Given the description of an element on the screen output the (x, y) to click on. 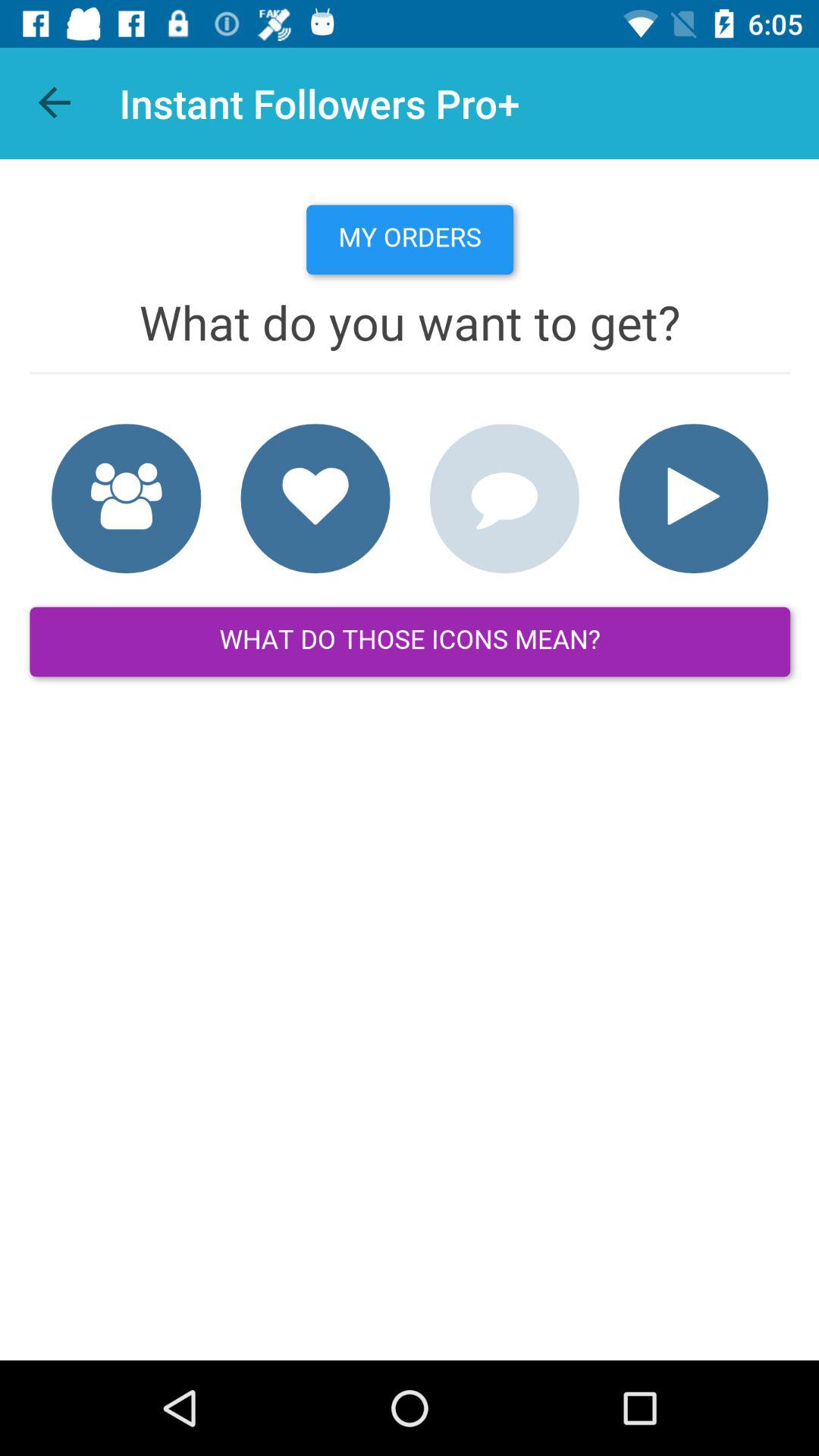
go back to previous (55, 103)
